Given the description of an element on the screen output the (x, y) to click on. 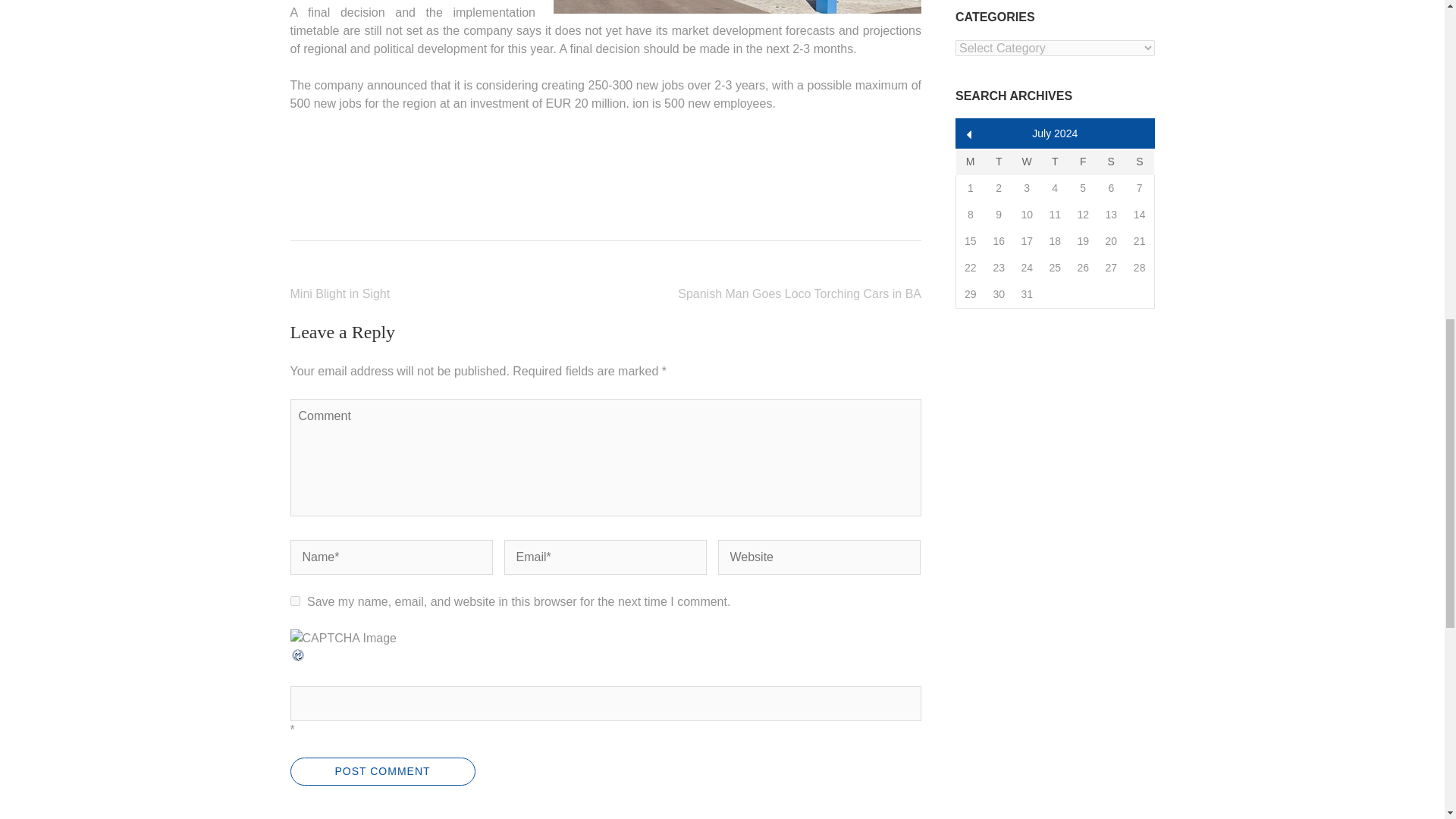
Wednesday (1027, 161)
Refresh Image (297, 658)
delta-electronics-Dubnica (737, 6)
Tuesday (999, 161)
Saturday (1111, 161)
yes (294, 601)
Sunday (1139, 161)
Post Comment (381, 771)
Monday (969, 161)
CAPTCHA Image (342, 638)
Friday (1082, 161)
Thursday (1054, 161)
